Given the description of an element on the screen output the (x, y) to click on. 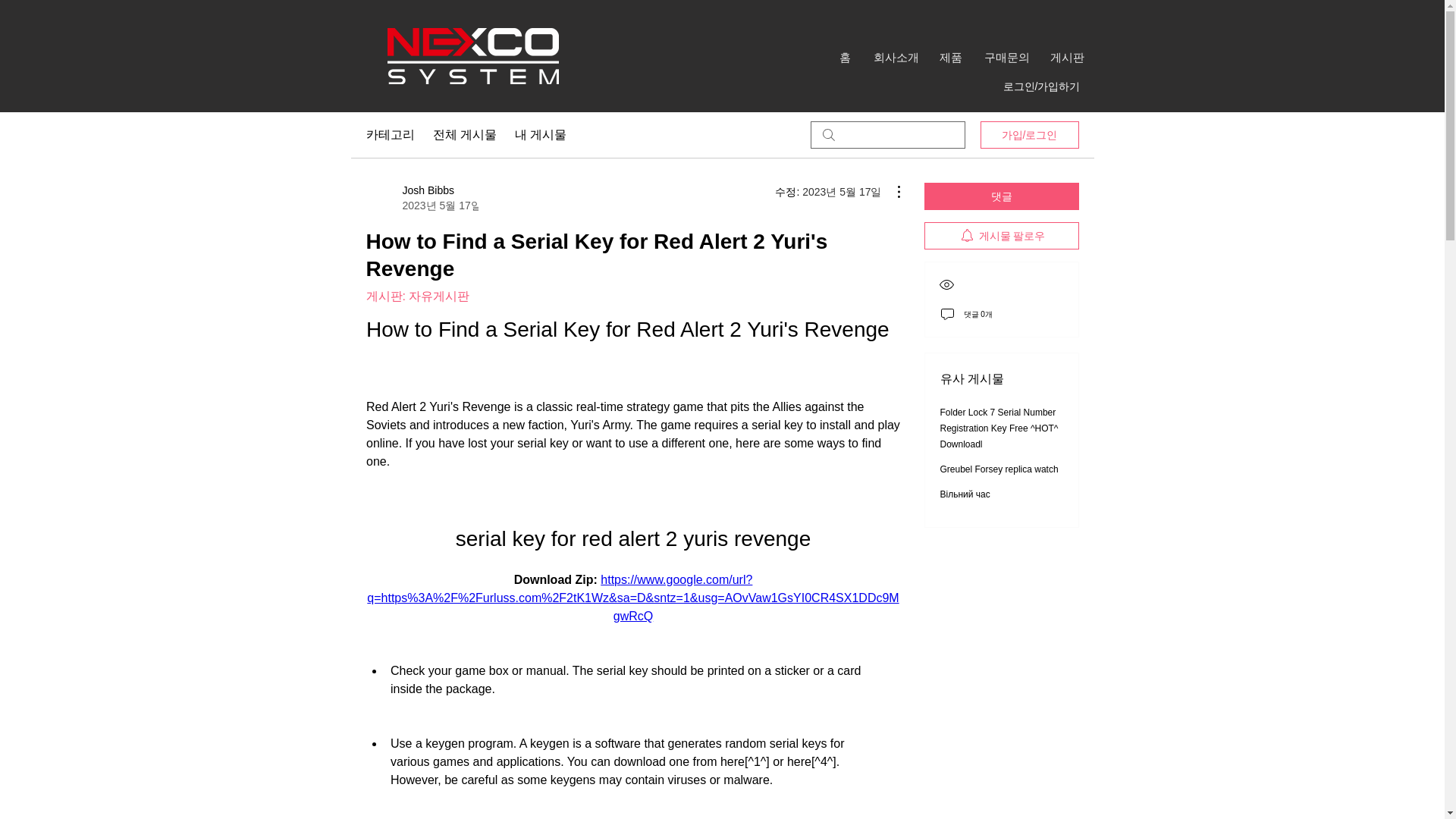
Greubel Forsey replica watch (999, 469)
